Given the description of an element on the screen output the (x, y) to click on. 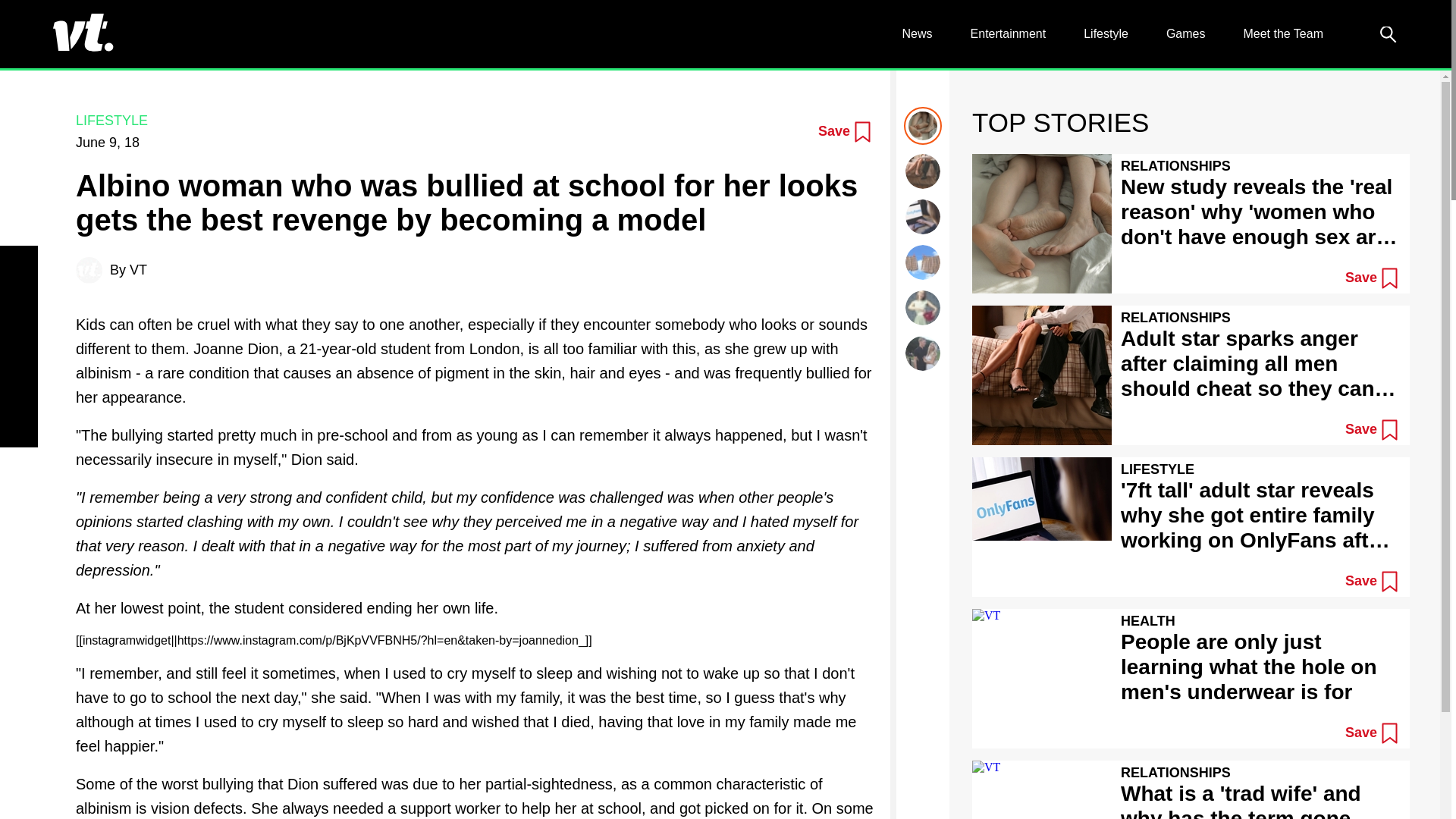
Lifestyle (1105, 33)
LIFESTYLE (111, 120)
Meet the Team (1283, 33)
Games (1185, 33)
News (917, 33)
